Given the description of an element on the screen output the (x, y) to click on. 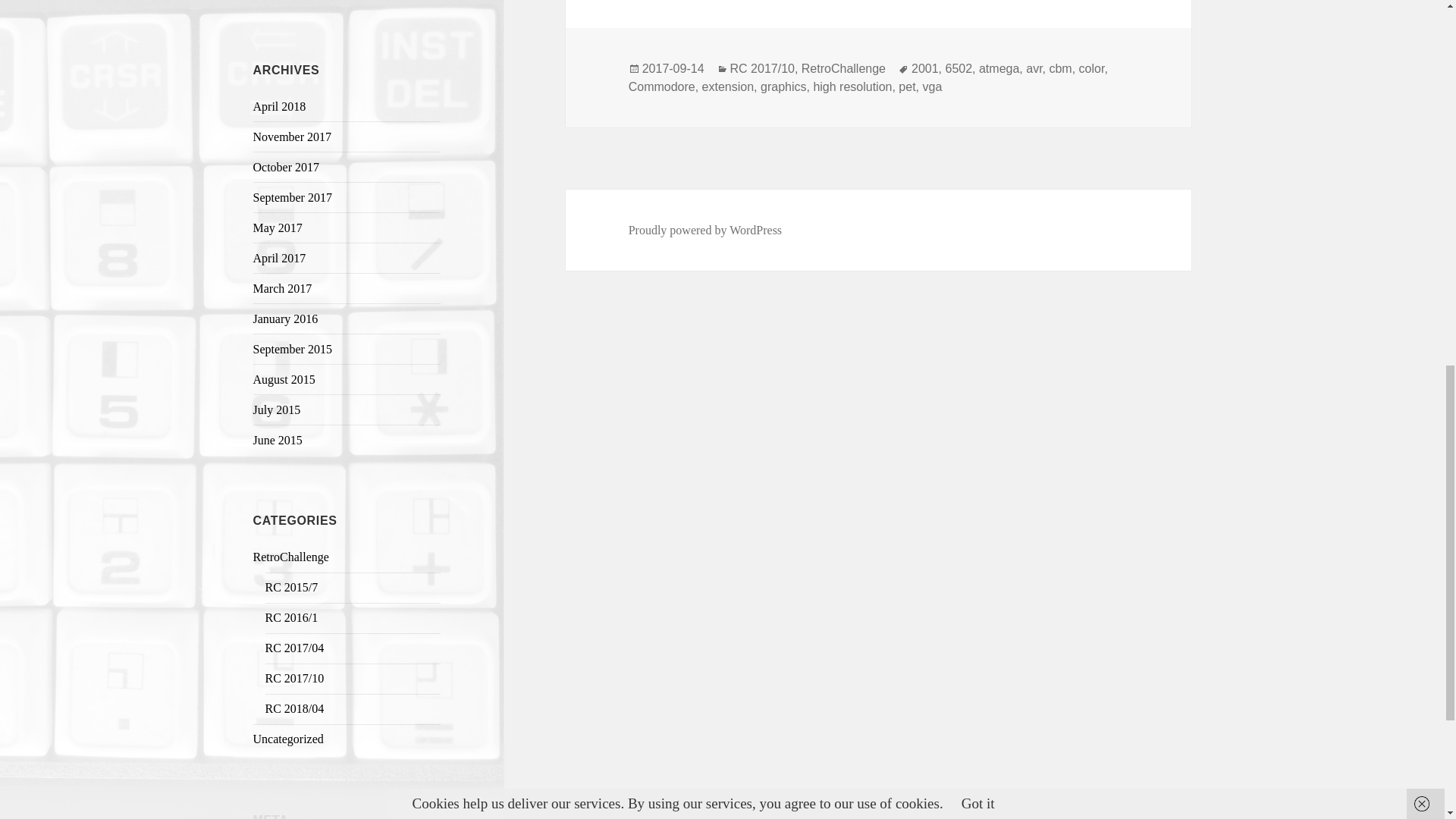
September 2017 (292, 196)
March 2017 (283, 287)
Uncategorized (288, 738)
October 2017 (286, 166)
April 2017 (279, 257)
June 2015 (277, 440)
November 2017 (292, 136)
September 2015 (292, 349)
July 2015 (277, 409)
August 2015 (284, 379)
May 2017 (277, 227)
January 2016 (285, 318)
April 2018 (279, 106)
RetroChallenge (291, 556)
